Given the description of an element on the screen output the (x, y) to click on. 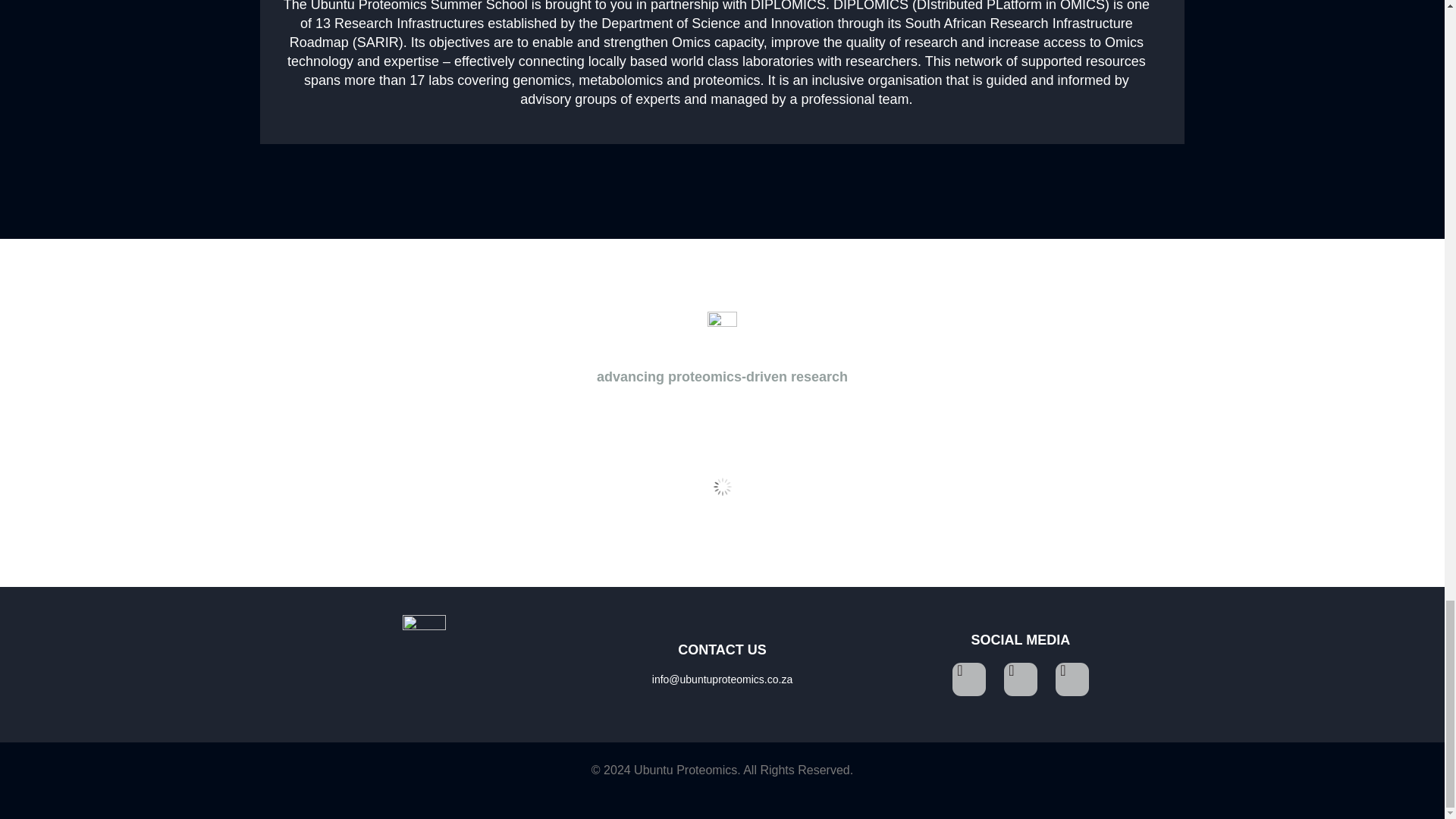
Linkedin (1020, 679)
Twitter (968, 679)
Youtube (1072, 679)
